Given the description of an element on the screen output the (x, y) to click on. 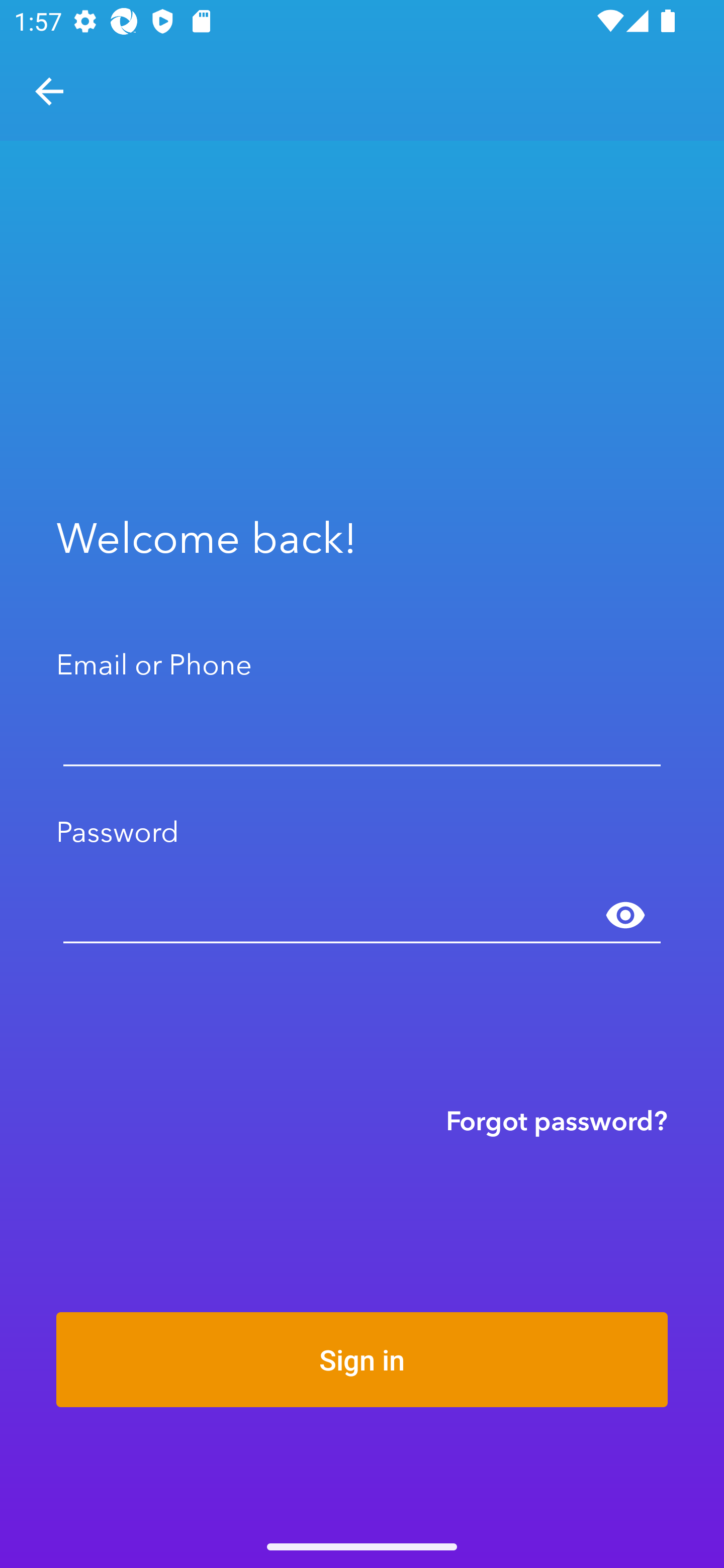
Navigate up (49, 91)
Show password (625, 915)
Forgot password? (556, 1119)
Sign in (361, 1359)
